Given the description of an element on the screen output the (x, y) to click on. 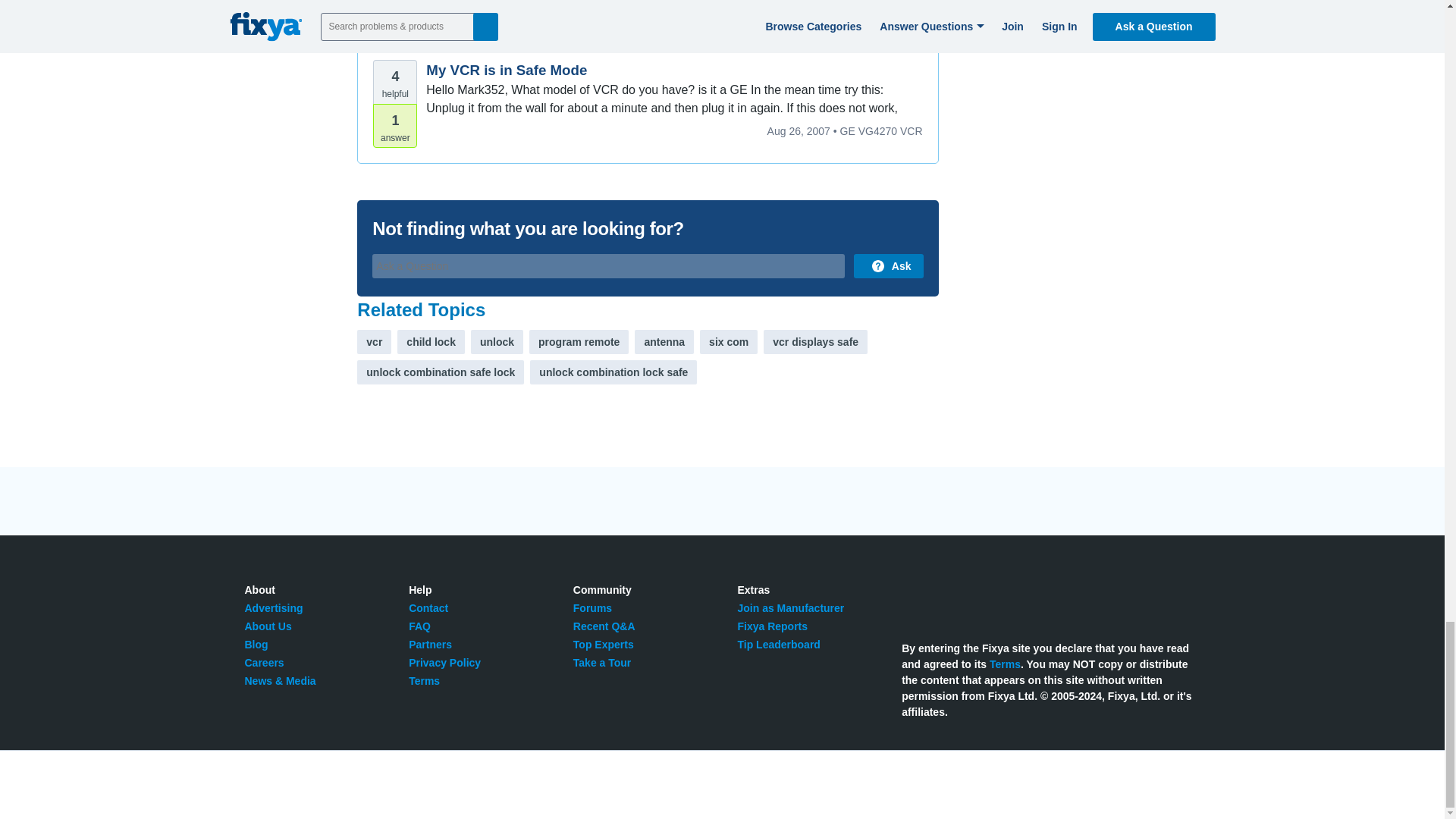
Follow Fixya on Twitter (910, 597)
Ask (888, 265)
